Given the description of an element on the screen output the (x, y) to click on. 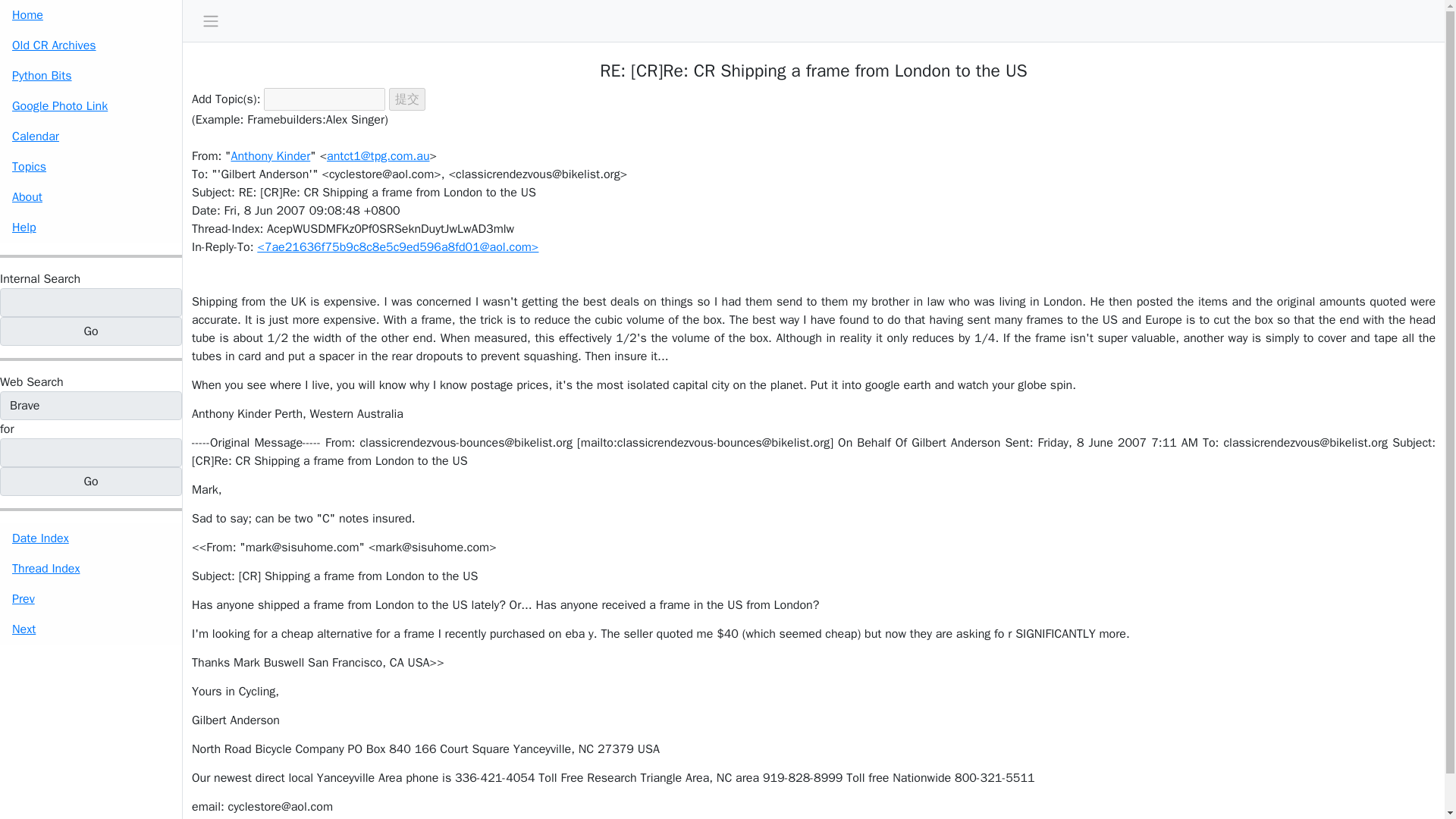
Google Photo Link (91, 105)
Go (91, 481)
Anthony Kinder (270, 155)
Home (91, 15)
Next (91, 629)
Prev (91, 598)
About (91, 196)
Python Bits (91, 75)
Go (91, 330)
Thread Index (91, 568)
Enter a word or phrase to search the archive. (40, 279)
Calendar (91, 136)
Date Index (91, 538)
Help (91, 227)
Go (91, 330)
